Given the description of an element on the screen output the (x, y) to click on. 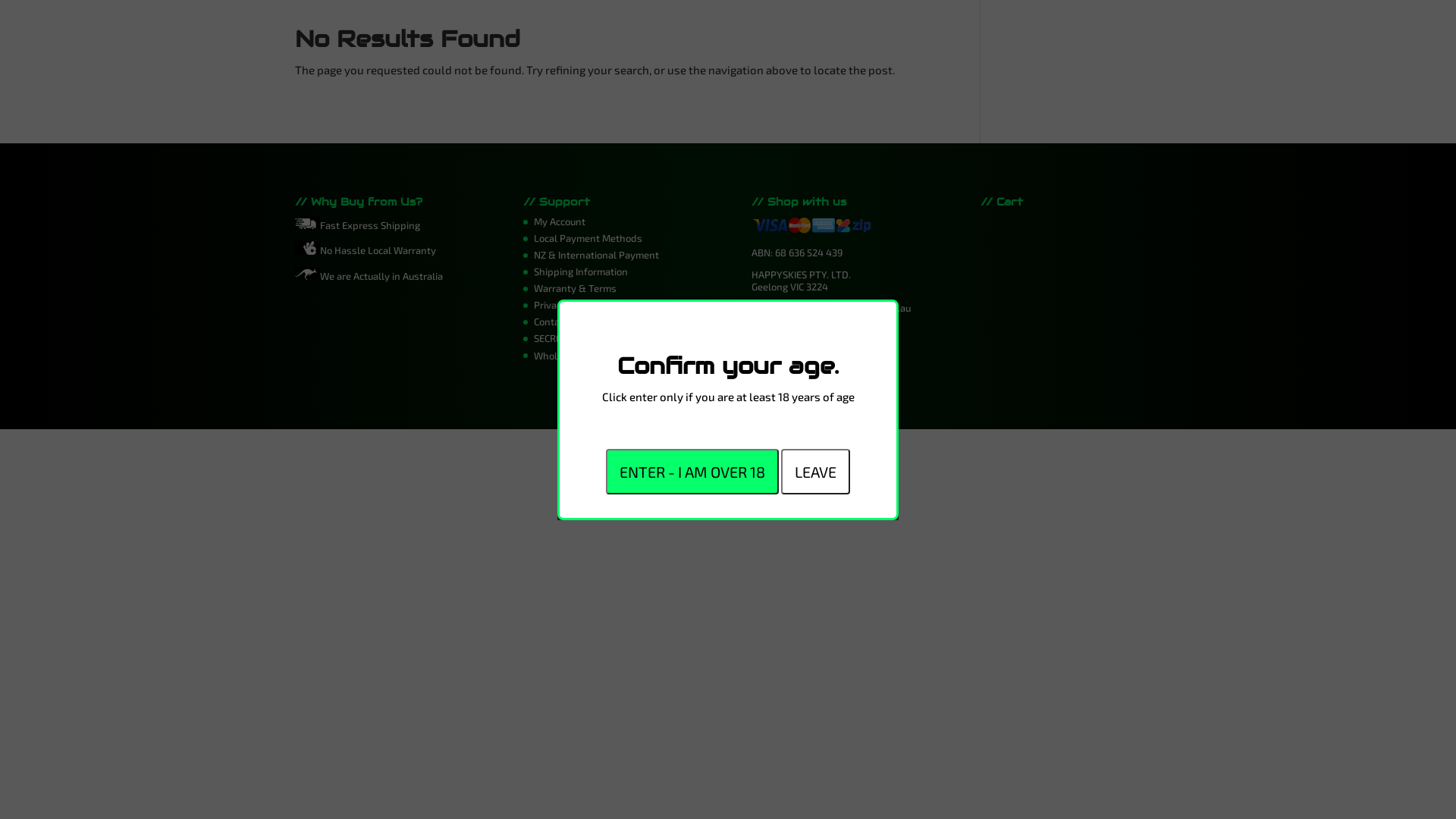
SECRET Sale Items Element type: text (574, 338)
NZ & International Payment Element type: text (595, 254)
Contact us Element type: text (556, 321)
Wholesale Vaporizers Element type: text (582, 355)
Shipping Information Element type: text (580, 271)
Local Payment Methods Element type: text (587, 238)
Privacy Policy Element type: text (564, 304)
Warranty & Terms Element type: text (574, 288)
ENTER - I AM OVER 18 Element type: text (691, 471)
LEAVE Element type: text (815, 471)
My Account Element type: text (559, 221)
support@dryherbvaporizers.com.au Element type: text (830, 307)
